Given the description of an element on the screen output the (x, y) to click on. 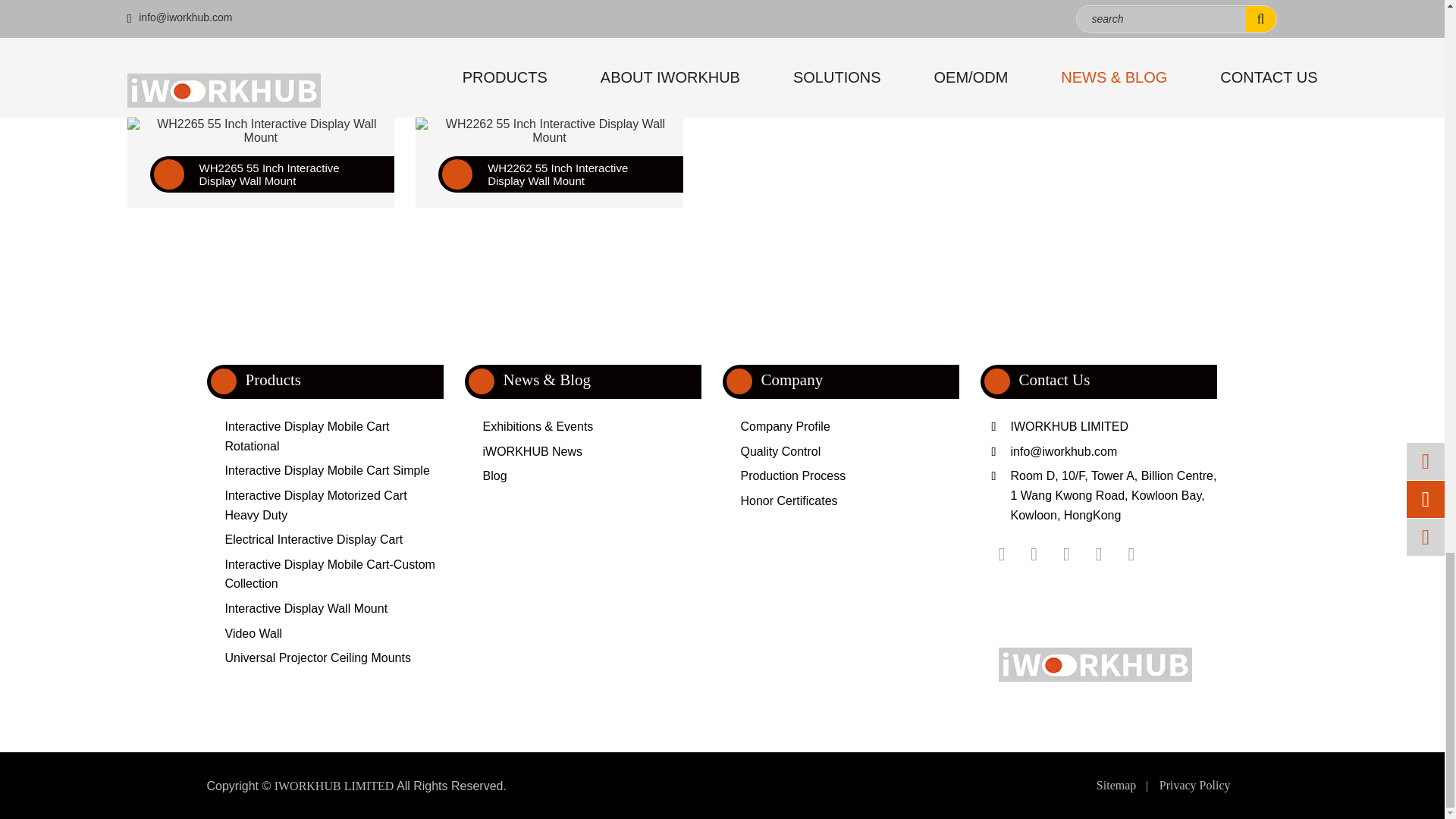
WH2163 42 Inch Interactive Display Wall Mount (548, 2)
WH2262 55 Inch Interactive Display Wall Mount (548, 130)
WH2264 55 Inch Interactive Display Wall Mount (838, 2)
WH2265 55 Inch Interactive Display Wall Mount (261, 130)
WH2180 55 Inch Interactive Display Wall Mount (261, 2)
